Given the description of an element on the screen output the (x, y) to click on. 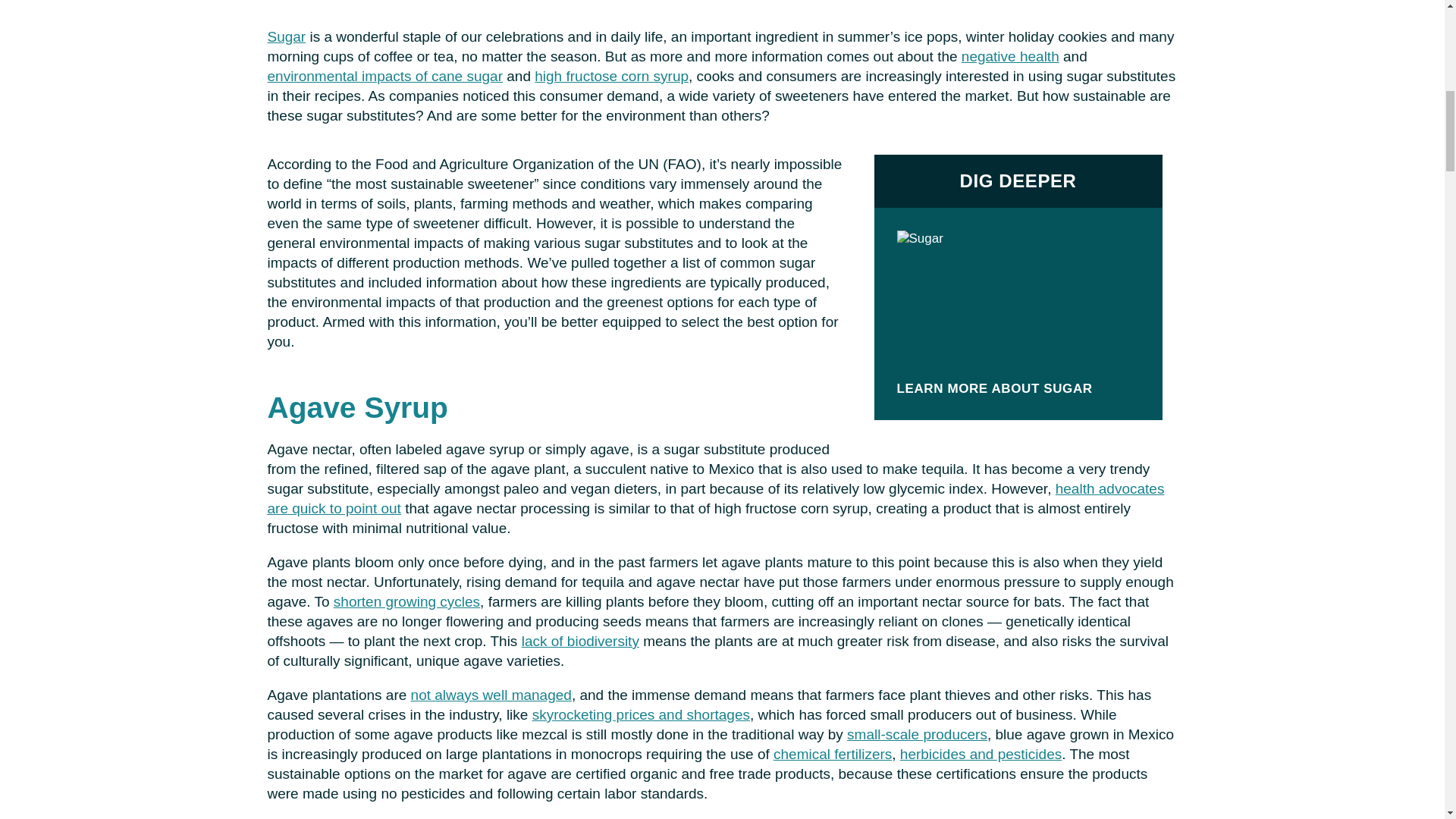
LEARN MORE ABOUT SUGAR (1000, 388)
negative health (1009, 56)
environmental impacts of cane sugar (384, 75)
high fructose corn syrup (611, 75)
Sugar (285, 36)
